Given the description of an element on the screen output the (x, y) to click on. 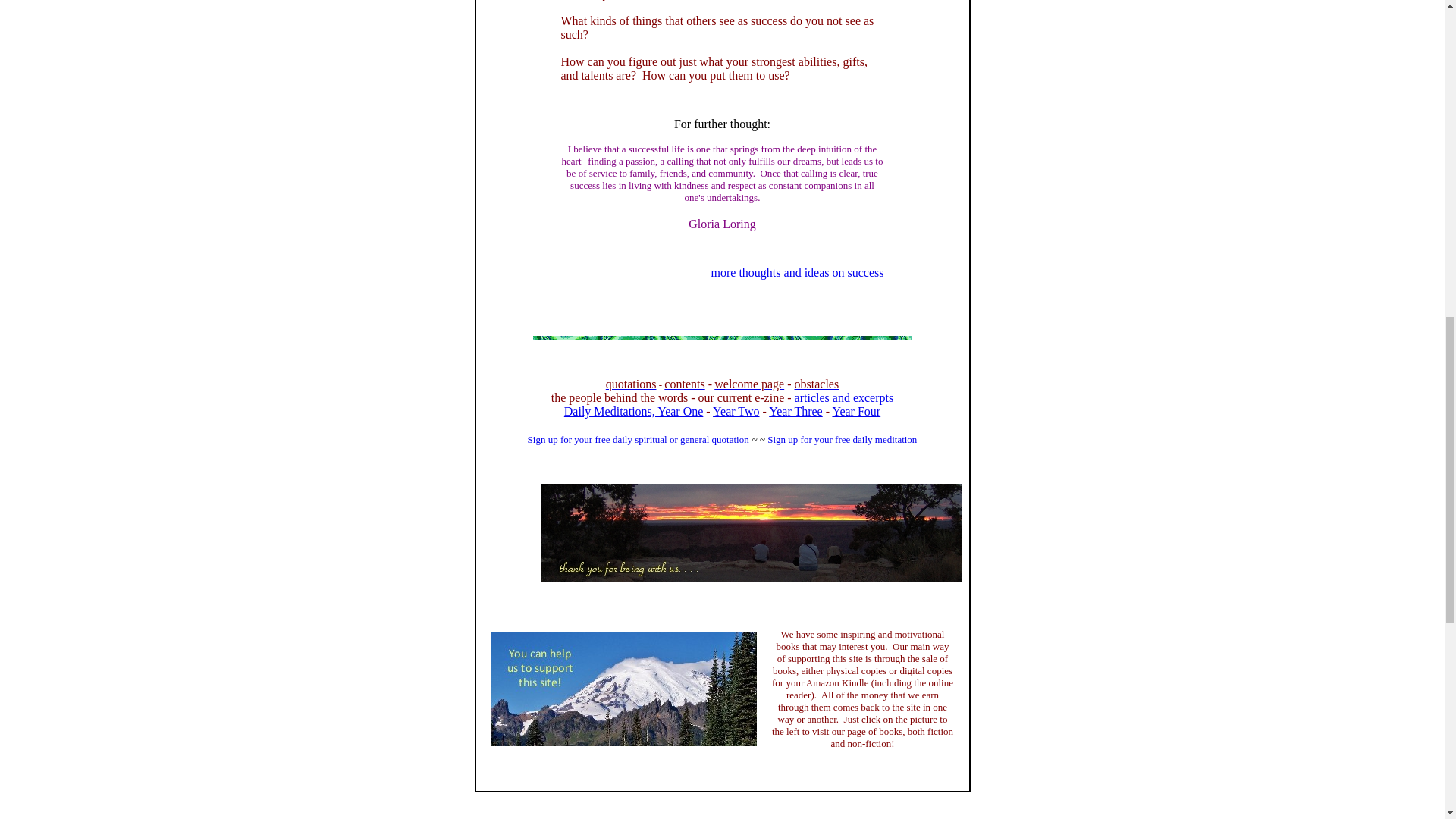
articles and excerpts (843, 397)
Year Three (795, 410)
Sign up for your free daily meditation (842, 439)
Sign up for your free daily spiritual or general quotation (638, 445)
obstacles (817, 383)
welcome page (749, 383)
Year Four (855, 410)
the people behind the words (619, 397)
quotations (630, 383)
contents (683, 383)
